Given the description of an element on the screen output the (x, y) to click on. 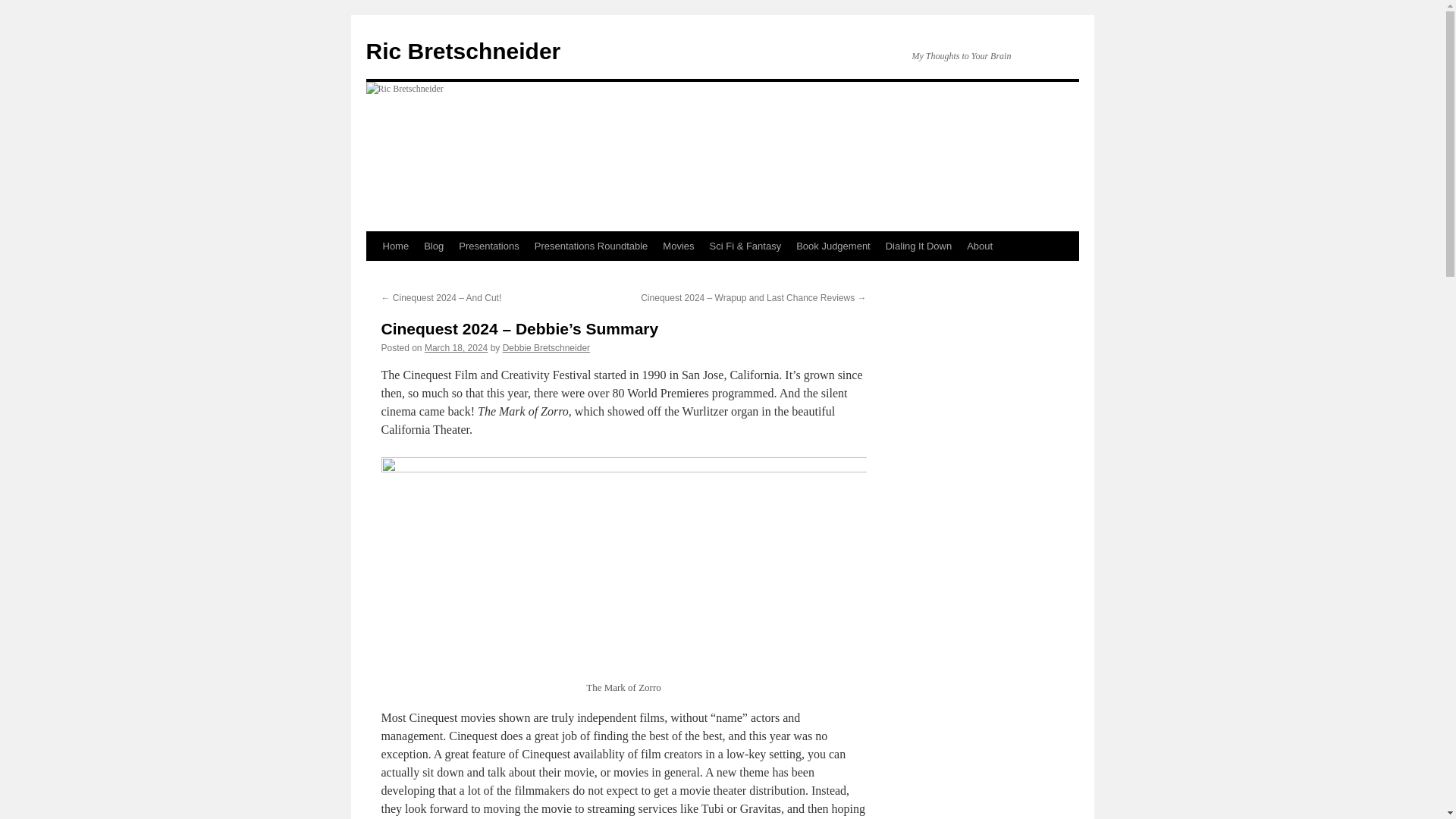
Ric Bretschneider (462, 50)
View all posts by Debbie Bretschneider (545, 347)
Debbie Bretschneider (545, 347)
2:21 pm (456, 347)
Dialing It Down (918, 246)
Blog (433, 246)
Presentations Roundtable (591, 246)
March 18, 2024 (456, 347)
Movies (678, 246)
Presentations (489, 246)
